Given the description of an element on the screen output the (x, y) to click on. 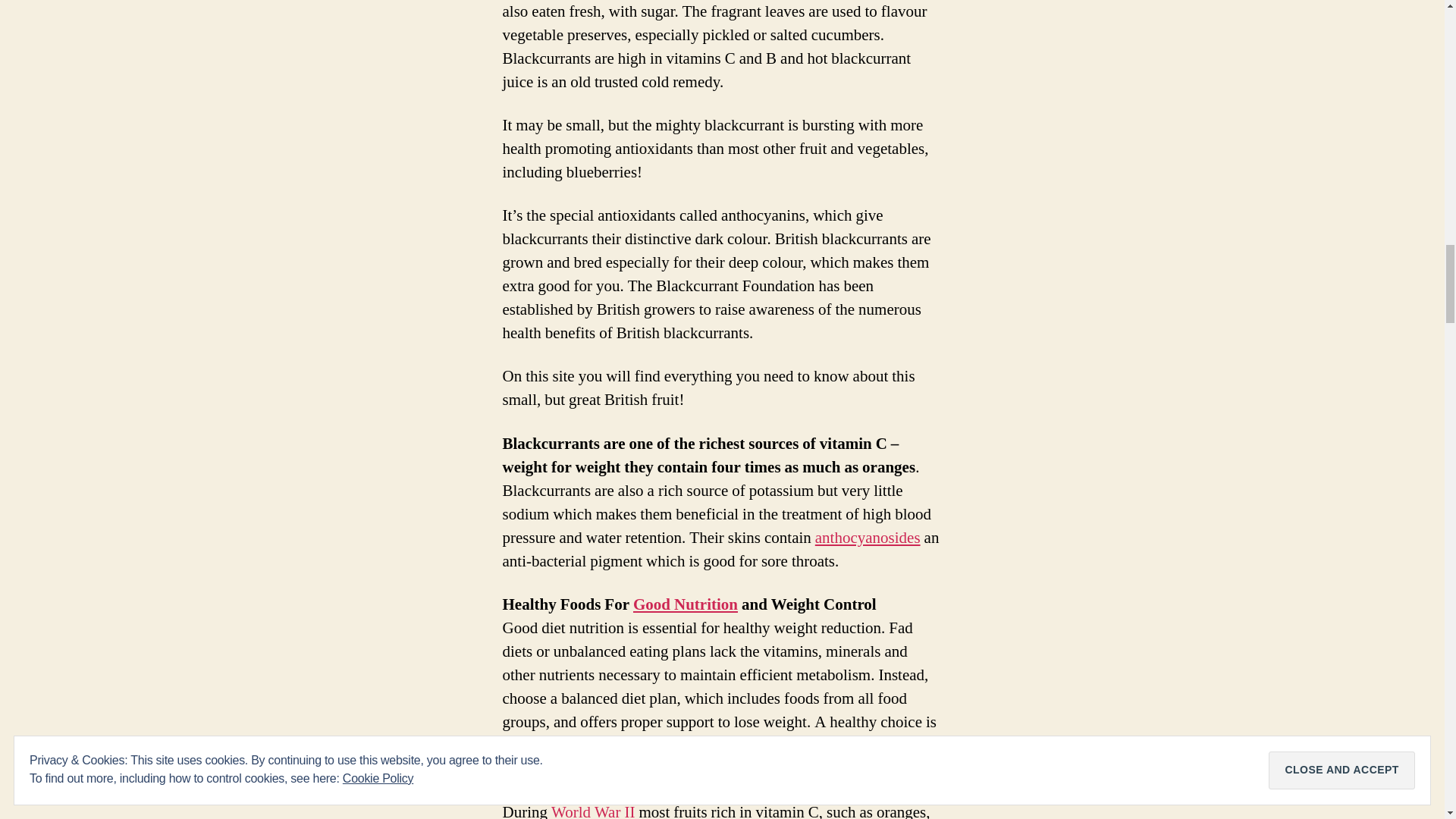
Anthocyanin (867, 537)
Good Nutrition (685, 604)
anthocyanosides (867, 537)
Nutrition (685, 604)
Weight Loss Program (660, 745)
